Given the description of an element on the screen output the (x, y) to click on. 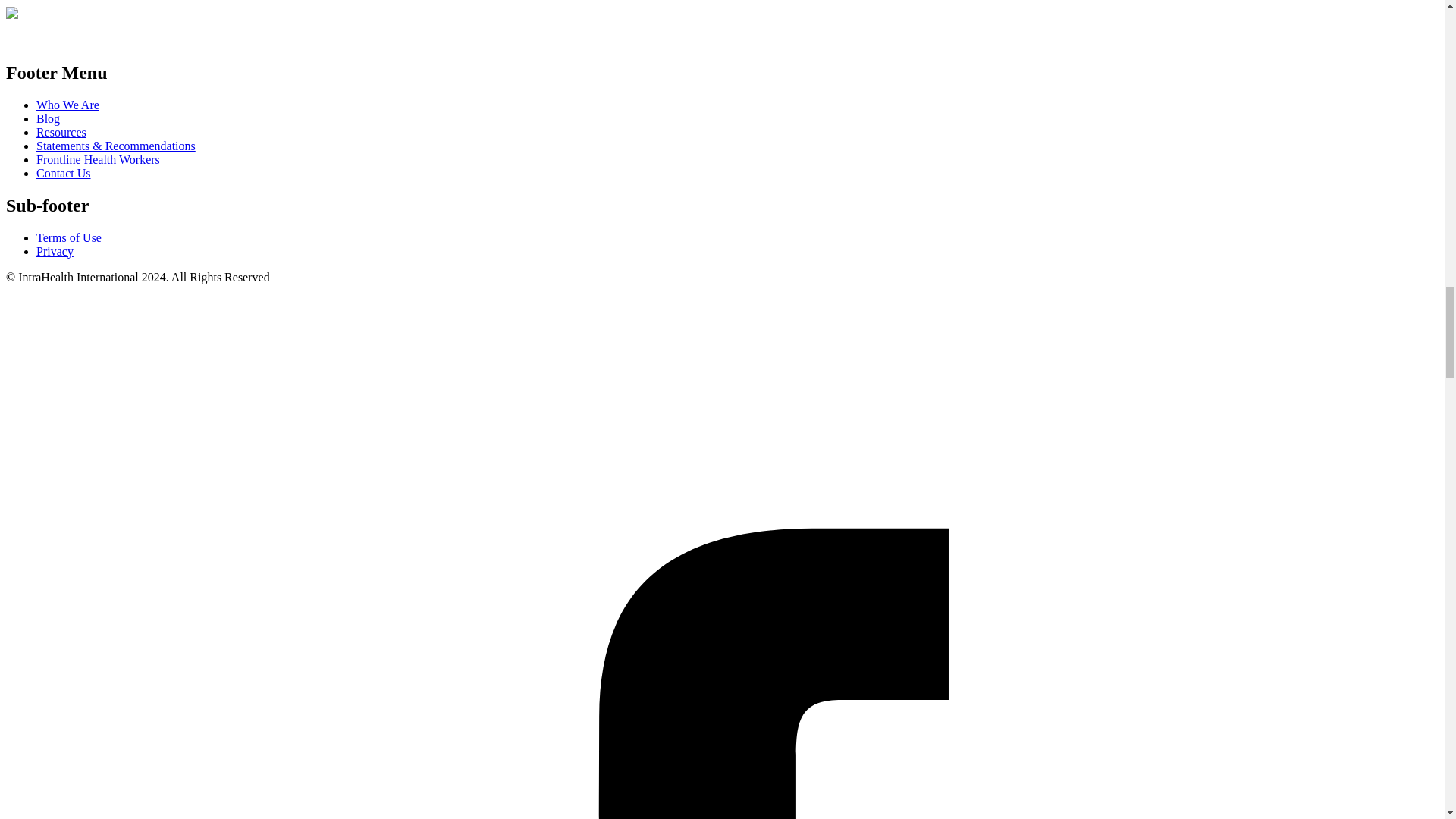
Resources (60, 132)
Terms of Use (68, 236)
Privacy (55, 250)
Blog (47, 118)
Frontline Health Workers (98, 159)
Who We Are (67, 104)
Contact Us (63, 173)
